Given the description of an element on the screen output the (x, y) to click on. 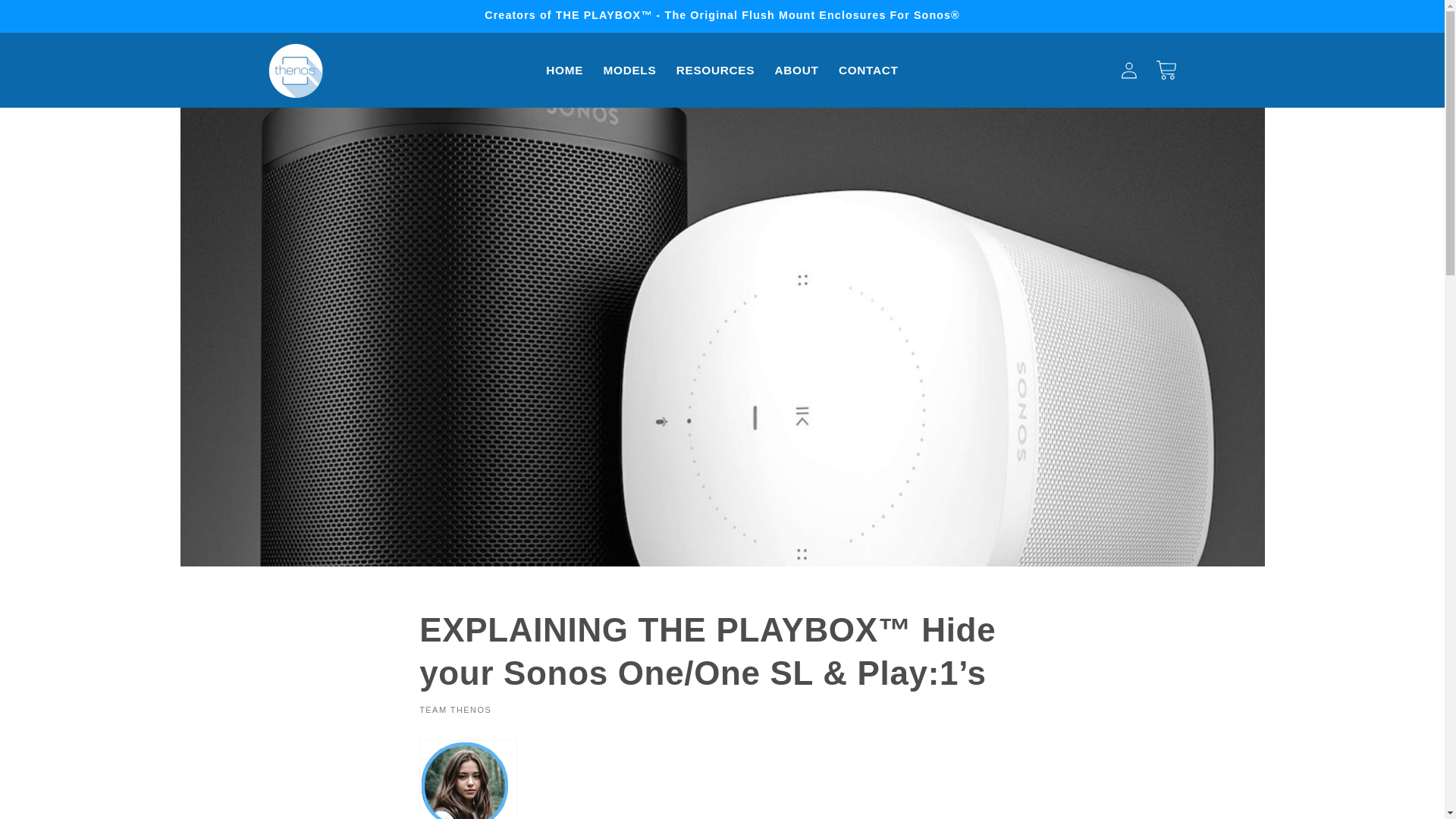
RESOURCES (715, 70)
MODELS (628, 70)
ABOUT (796, 70)
Skip to content (50, 19)
HOME (563, 70)
CONTACT (868, 70)
Cart (1166, 69)
Log in (1128, 69)
